Given the description of an element on the screen output the (x, y) to click on. 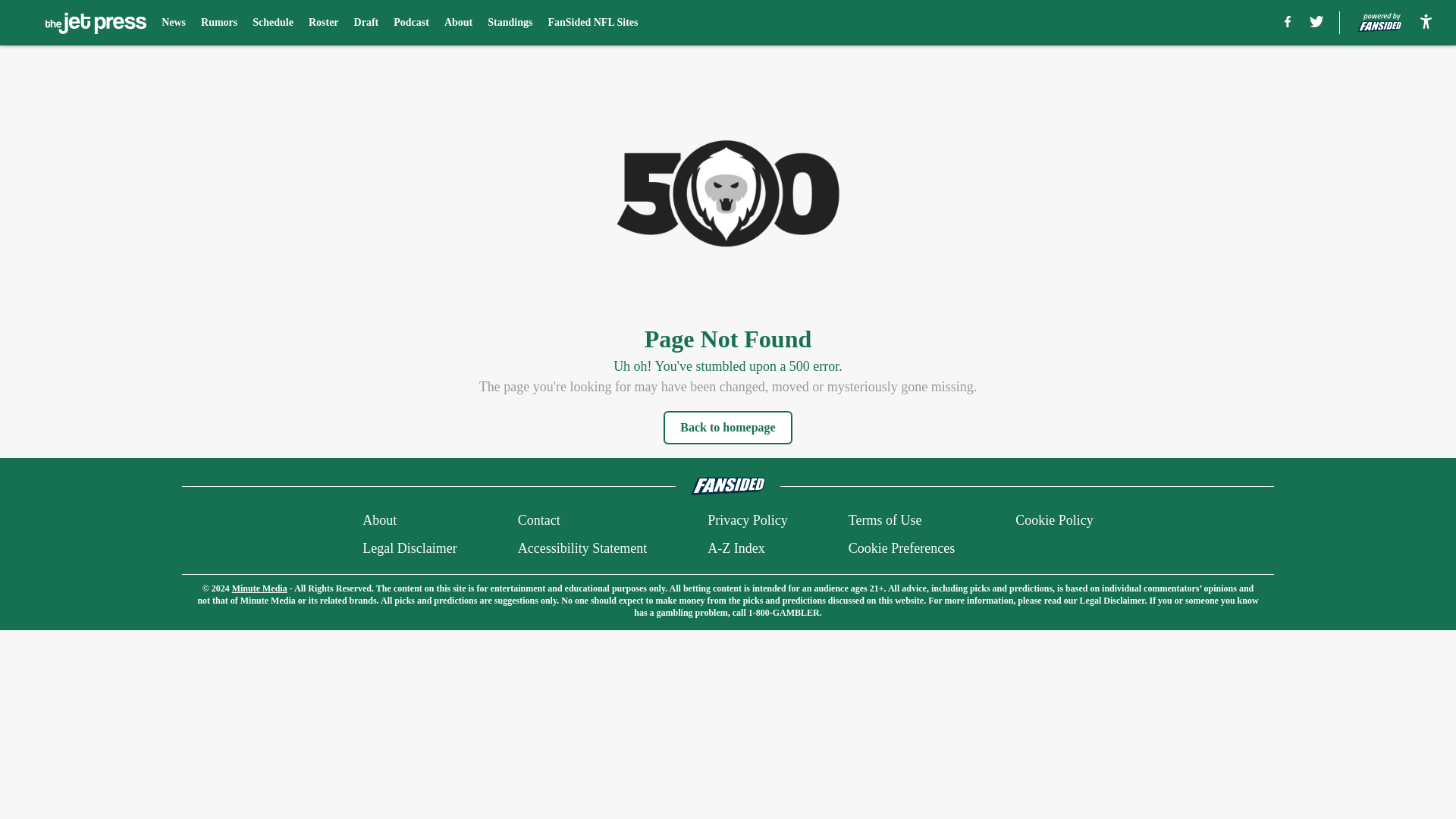
Standings (509, 22)
Cookie Preferences (901, 548)
Contact (539, 520)
About (379, 520)
Legal Disclaimer (409, 548)
FanSided NFL Sites (592, 22)
Schedule (272, 22)
Roster (323, 22)
Podcast (411, 22)
Draft (365, 22)
